Given the description of an element on the screen output the (x, y) to click on. 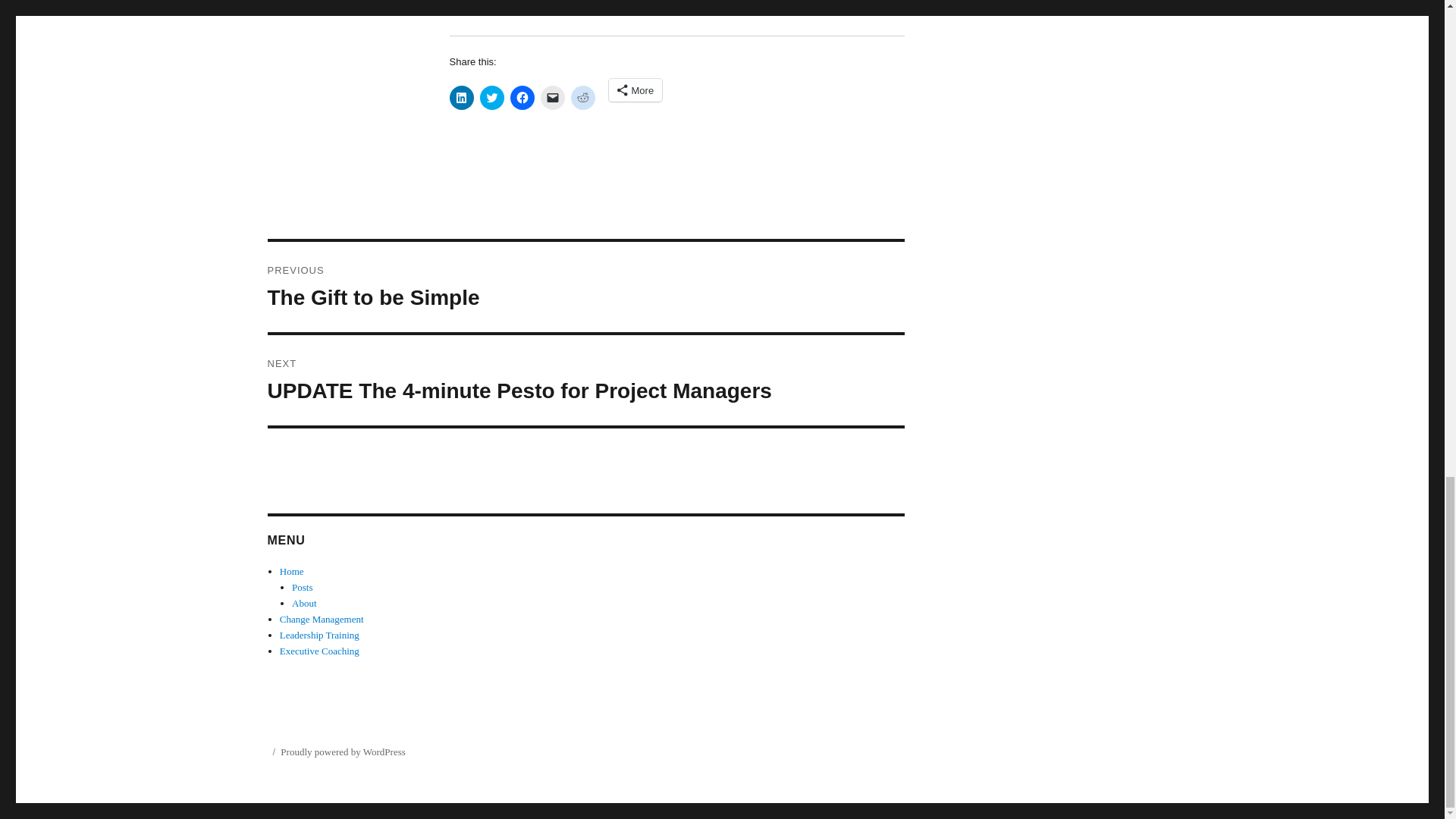
Home (291, 571)
More (635, 89)
Click to share on Reddit (585, 286)
Change Management (582, 97)
About (321, 618)
Click to share on Facebook (304, 603)
Click to share on Twitter (521, 97)
Click to email a link to a friend (491, 97)
Click to share on LinkedIn (552, 97)
Posts (460, 97)
Executive Coaching (302, 586)
Leadership Training (319, 650)
